Given the description of an element on the screen output the (x, y) to click on. 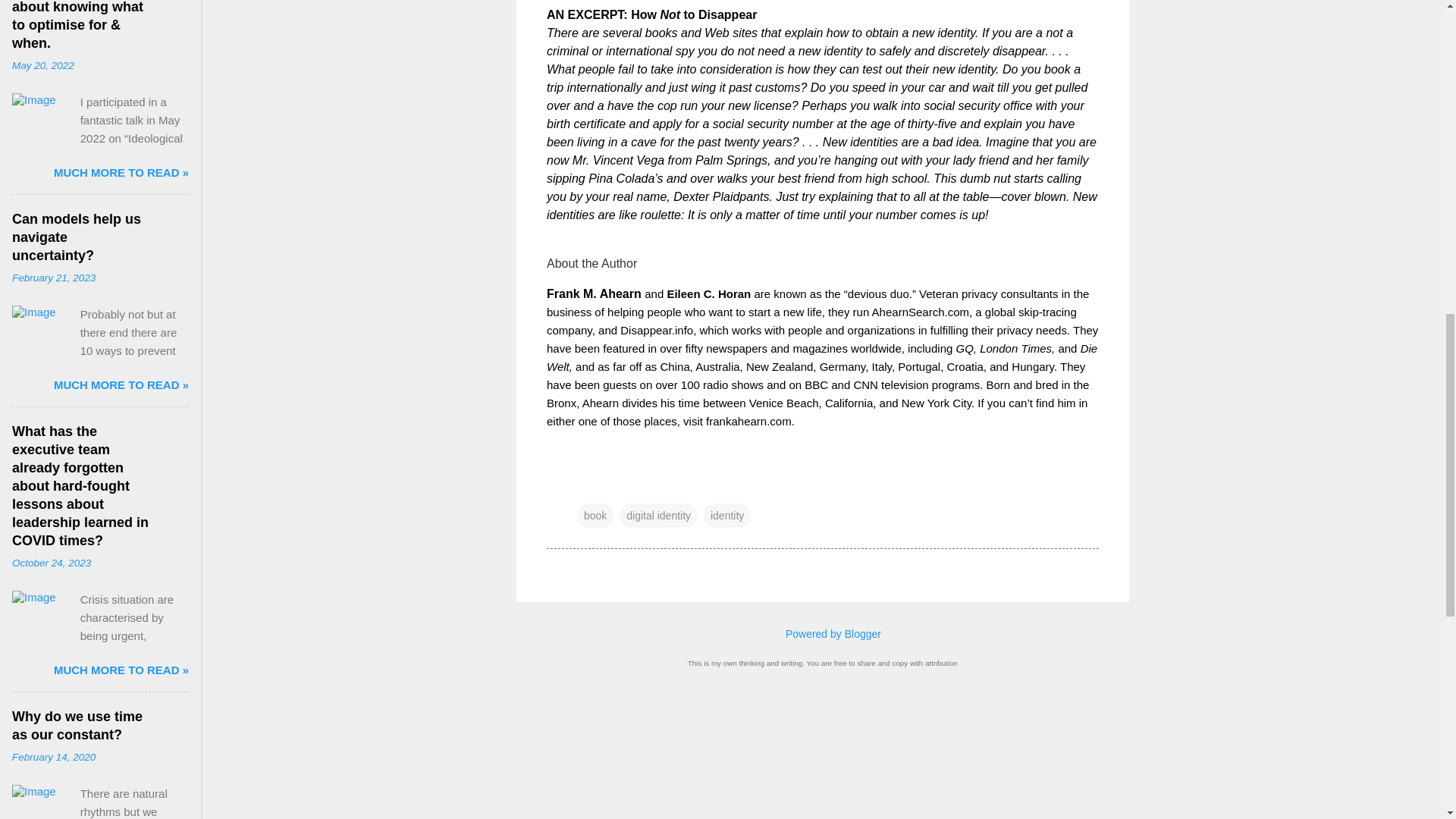
October 24, 2023 (50, 562)
book (594, 515)
Email Post (585, 485)
digital identity (658, 515)
identity (727, 515)
February 21, 2023 (53, 277)
May 20, 2022 (42, 65)
Can models help us navigate uncertainty? (76, 236)
Powered by Blogger (822, 633)
